Given the description of an element on the screen output the (x, y) to click on. 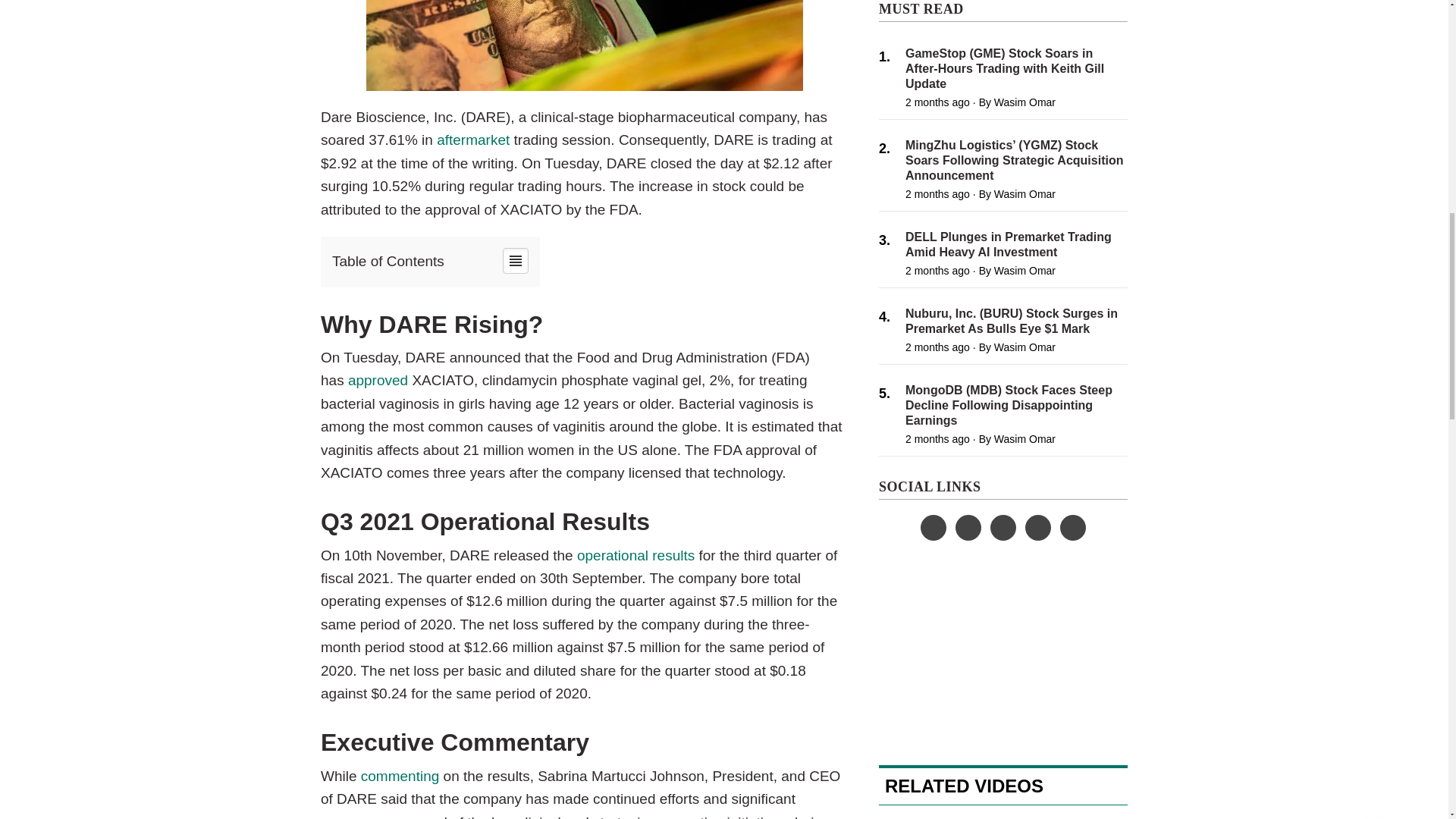
aftermarket (472, 139)
approved (377, 380)
